Given the description of an element on the screen output the (x, y) to click on. 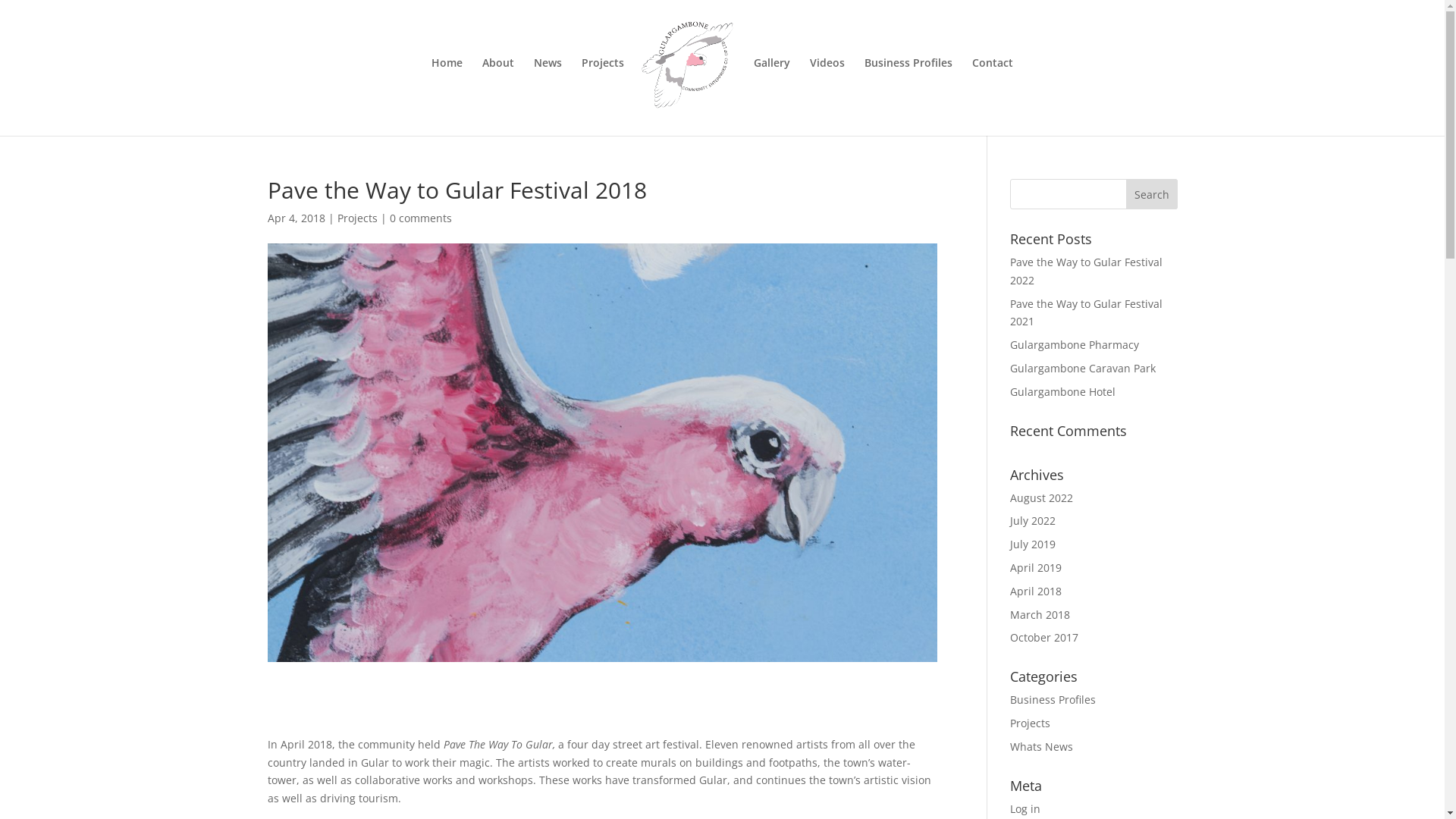
Pave the Way to Gular Festival 2021 Element type: text (1086, 312)
August 2022 Element type: text (1041, 497)
Projects Element type: text (602, 96)
July 2022 Element type: text (1032, 520)
Home Element type: text (446, 96)
Pave the Way to Gular Festival 2022 Element type: text (1086, 270)
Videos Element type: text (826, 96)
Whats News Element type: text (1041, 746)
About Element type: text (498, 96)
Business Profiles Element type: text (1052, 699)
Search Element type: text (1151, 193)
Business Profiles Element type: text (908, 96)
Gulargambone Hotel Element type: text (1062, 391)
July 2019 Element type: text (1032, 543)
March 2018 Element type: text (1040, 614)
Projects Element type: text (1030, 722)
Gulargambone Pharmacy Element type: text (1074, 344)
April 2019 Element type: text (1035, 567)
Gulargambone Caravan Park Element type: text (1082, 367)
Contact Element type: text (992, 96)
0 comments Element type: text (420, 217)
News Element type: text (547, 96)
Projects Element type: text (356, 217)
Log in Element type: text (1025, 808)
October 2017 Element type: text (1044, 637)
Gallery Element type: text (771, 96)
April 2018 Element type: text (1035, 590)
